Given the description of an element on the screen output the (x, y) to click on. 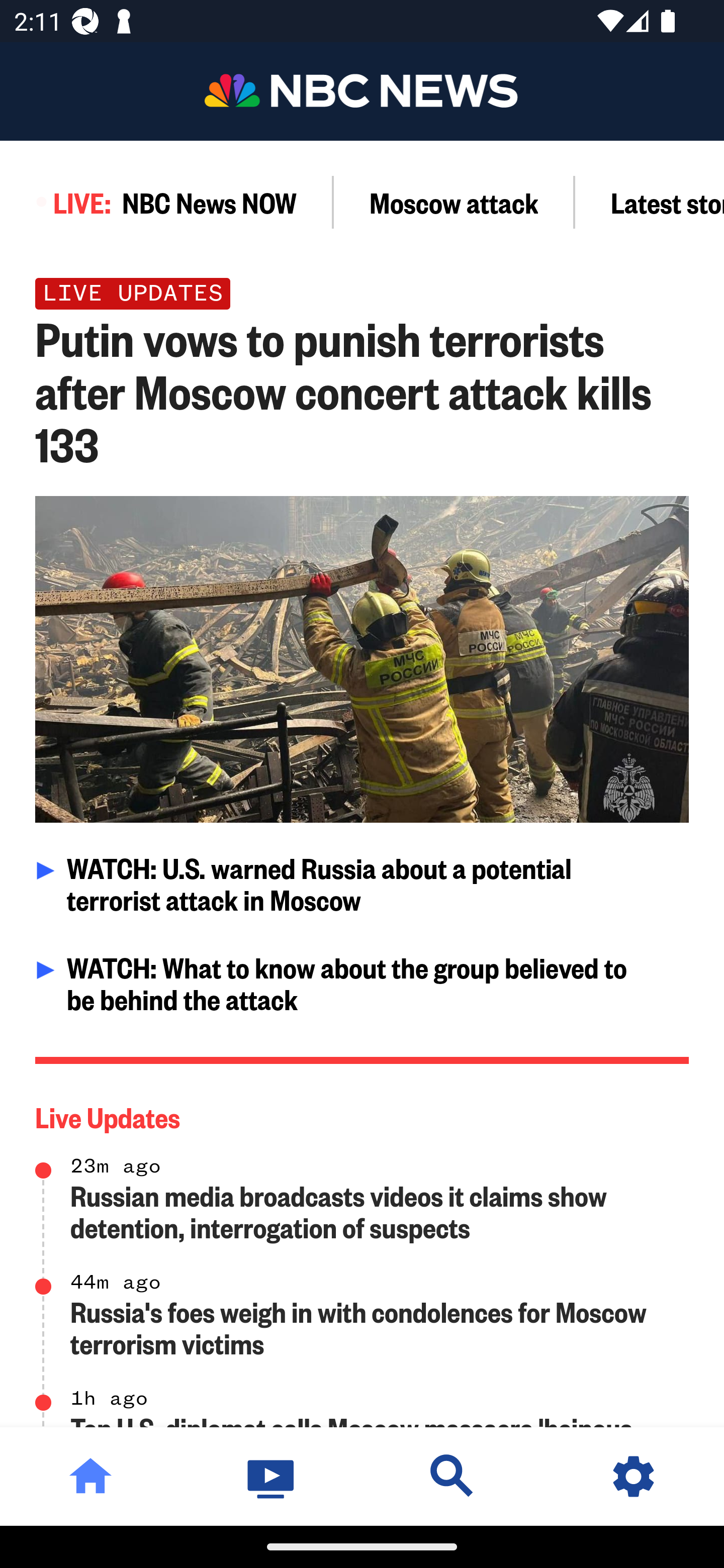
LIVE:  NBC News NOW (166, 202)
Moscow attack (453, 202)
Latest stories Section,Latest stories (649, 202)
Watch (271, 1475)
Discover (452, 1475)
Settings (633, 1475)
